Given the description of an element on the screen output the (x, y) to click on. 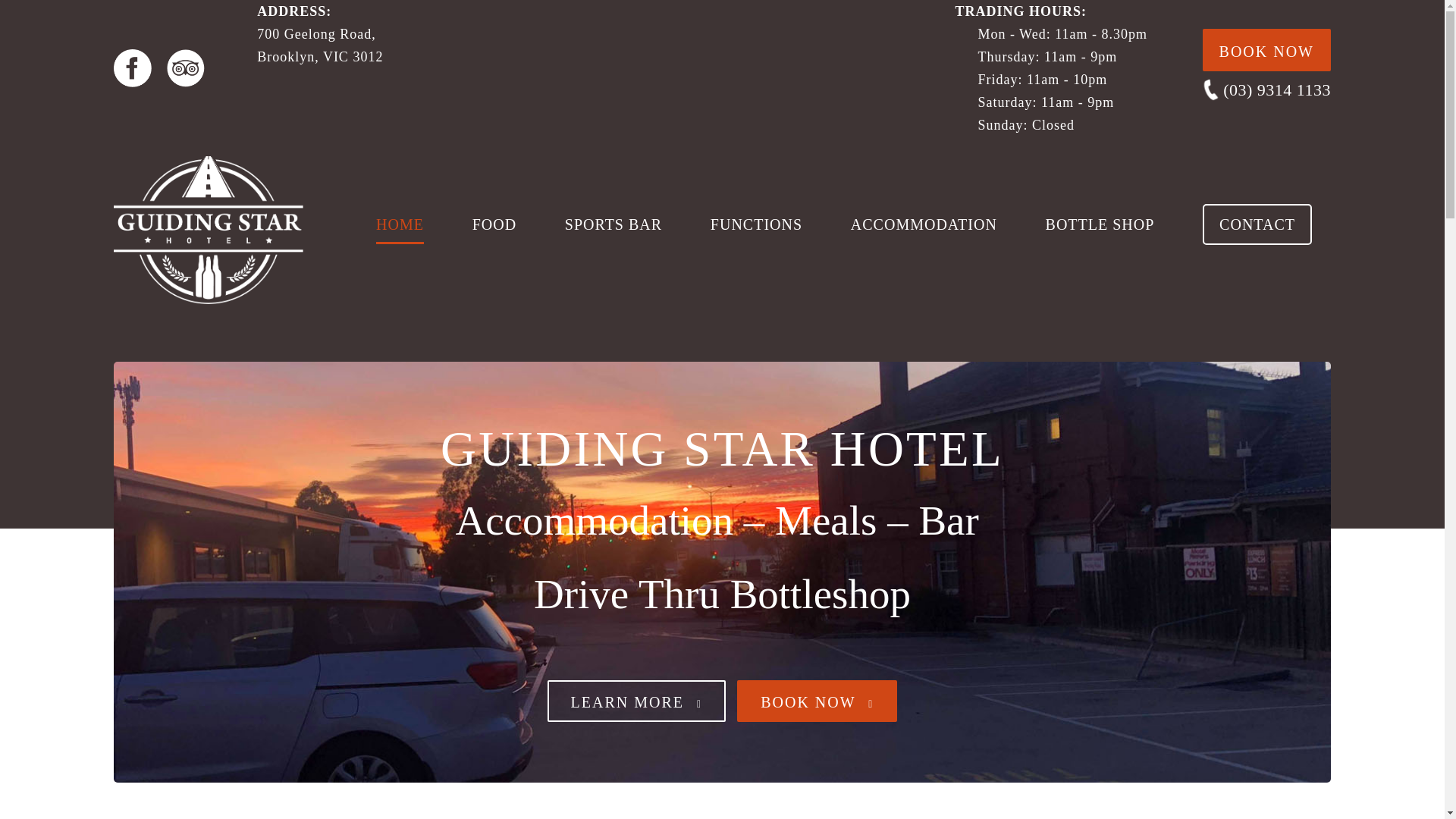
SPORTS BAR Element type: text (613, 224)
FUNCTIONS Element type: text (756, 224)
BOOK NOW Element type: text (817, 700)
FOOD Element type: text (494, 224)
(03) 9314 1133 Element type: text (1276, 89)
BOTTLE SHOP Element type: text (1099, 224)
HOME Element type: text (399, 224)
CONTACT Element type: text (1256, 224)
ACCOMMODATION Element type: text (923, 224)
LEARN MORE Element type: text (636, 700)
